Given the description of an element on the screen output the (x, y) to click on. 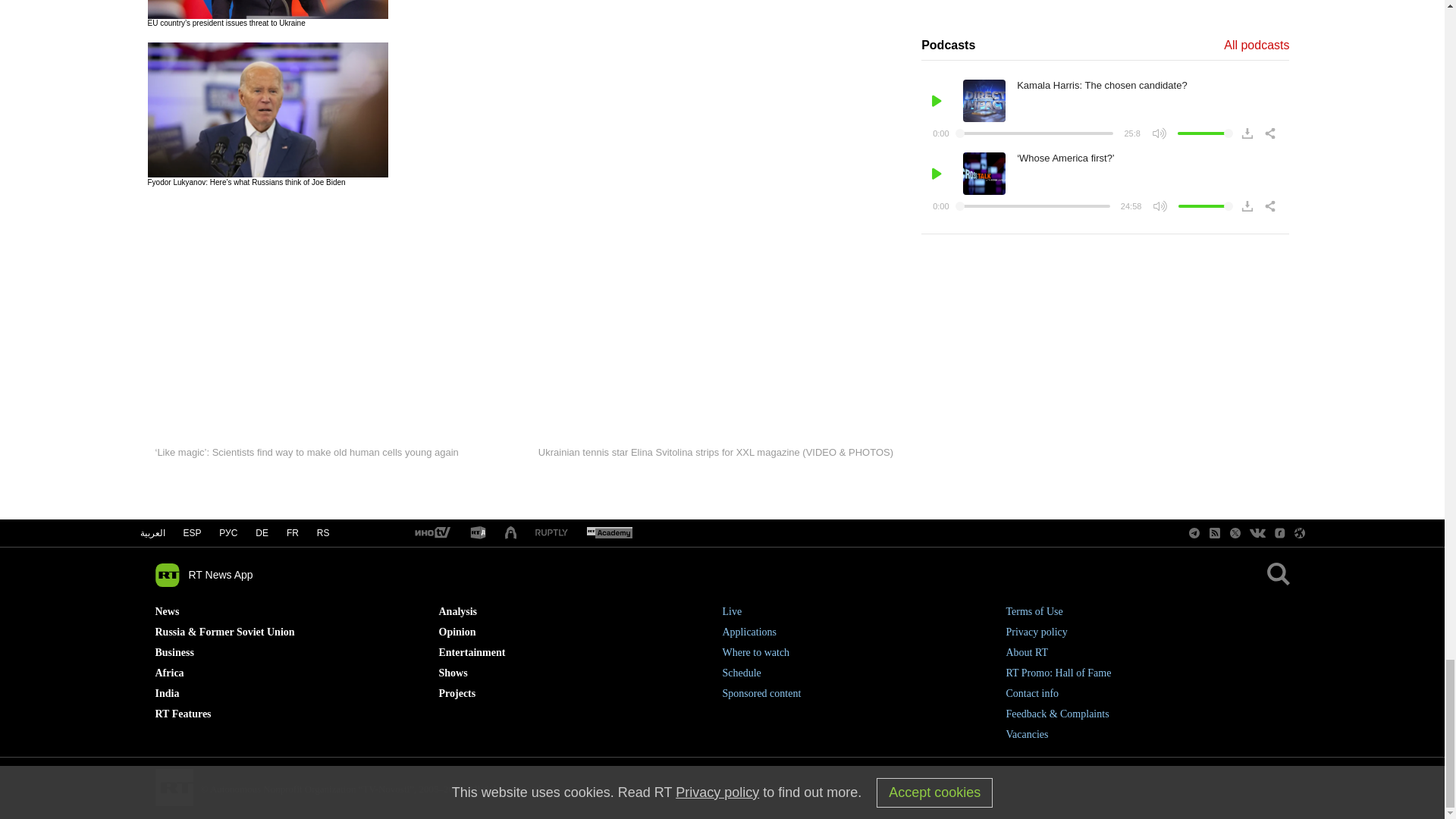
RT  (608, 533)
RT  (551, 533)
RT  (431, 533)
RT  (478, 533)
